Given the description of an element on the screen output the (x, y) to click on. 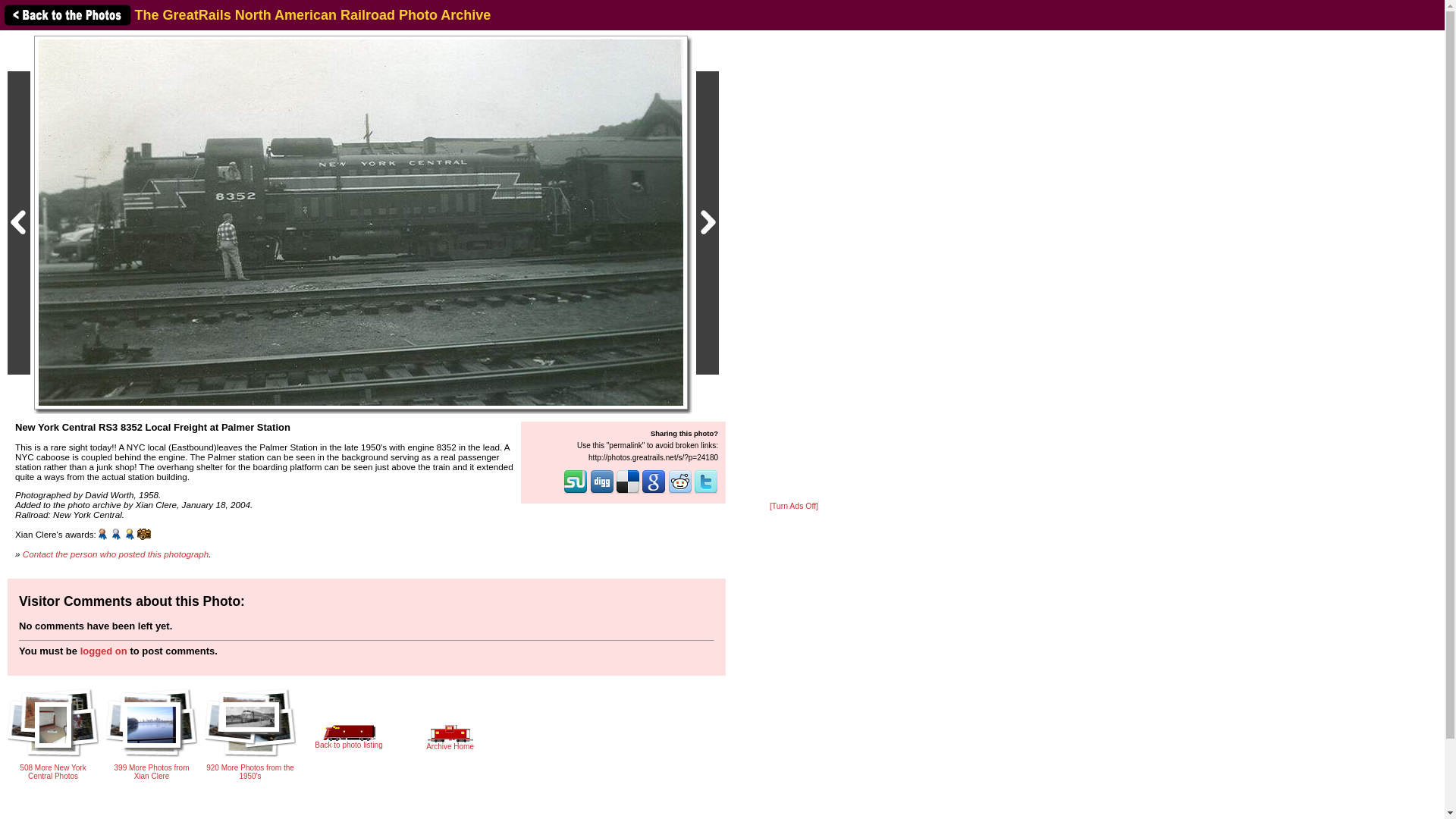
Back to photo listing (348, 740)
Submit to Google Bookmarks (653, 492)
399 More Photos from Xian Clere (151, 767)
Contact the person who posted this photograph (116, 553)
Submit to Reddit (680, 492)
508 More New York Central Photos (52, 767)
Submit to Stumble (575, 492)
Submit to Del.icio.us (627, 492)
Submit to Digg (601, 492)
Archive Home (450, 742)
